Given the description of an element on the screen output the (x, y) to click on. 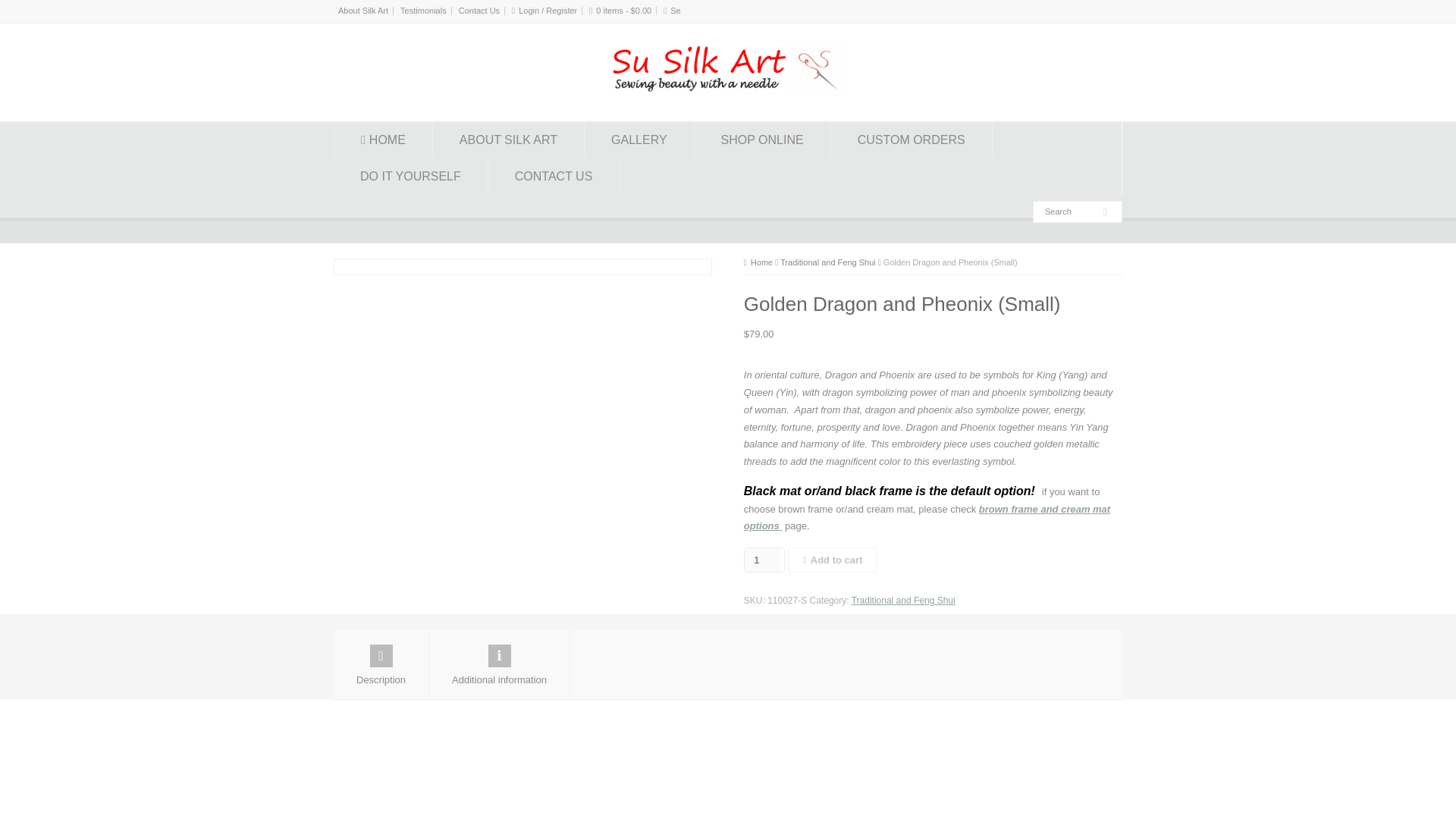
Additional information (499, 664)
Home (758, 261)
GALLERY (639, 140)
Search (1069, 211)
Description (380, 664)
About Silk Art (362, 10)
Search (675, 10)
Add to cart (832, 559)
Su Silk Art - Handmade Silk Embroidery Art (762, 261)
brown frame and cream mat options  (926, 517)
